Given the description of an element on the screen output the (x, y) to click on. 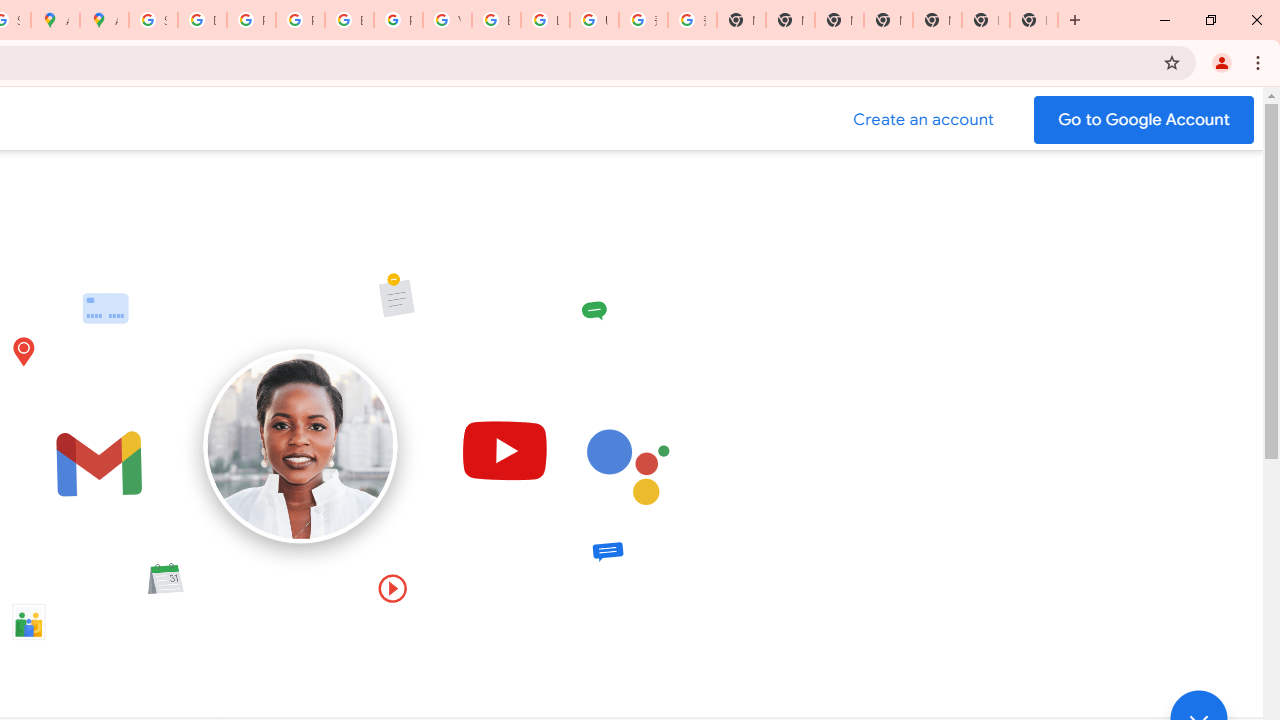
Privacy Help Center - Policies Help (251, 20)
Create a Google Account (923, 119)
New Tab (1033, 20)
Go to your Google Account (1144, 119)
